Given the description of an element on the screen output the (x, y) to click on. 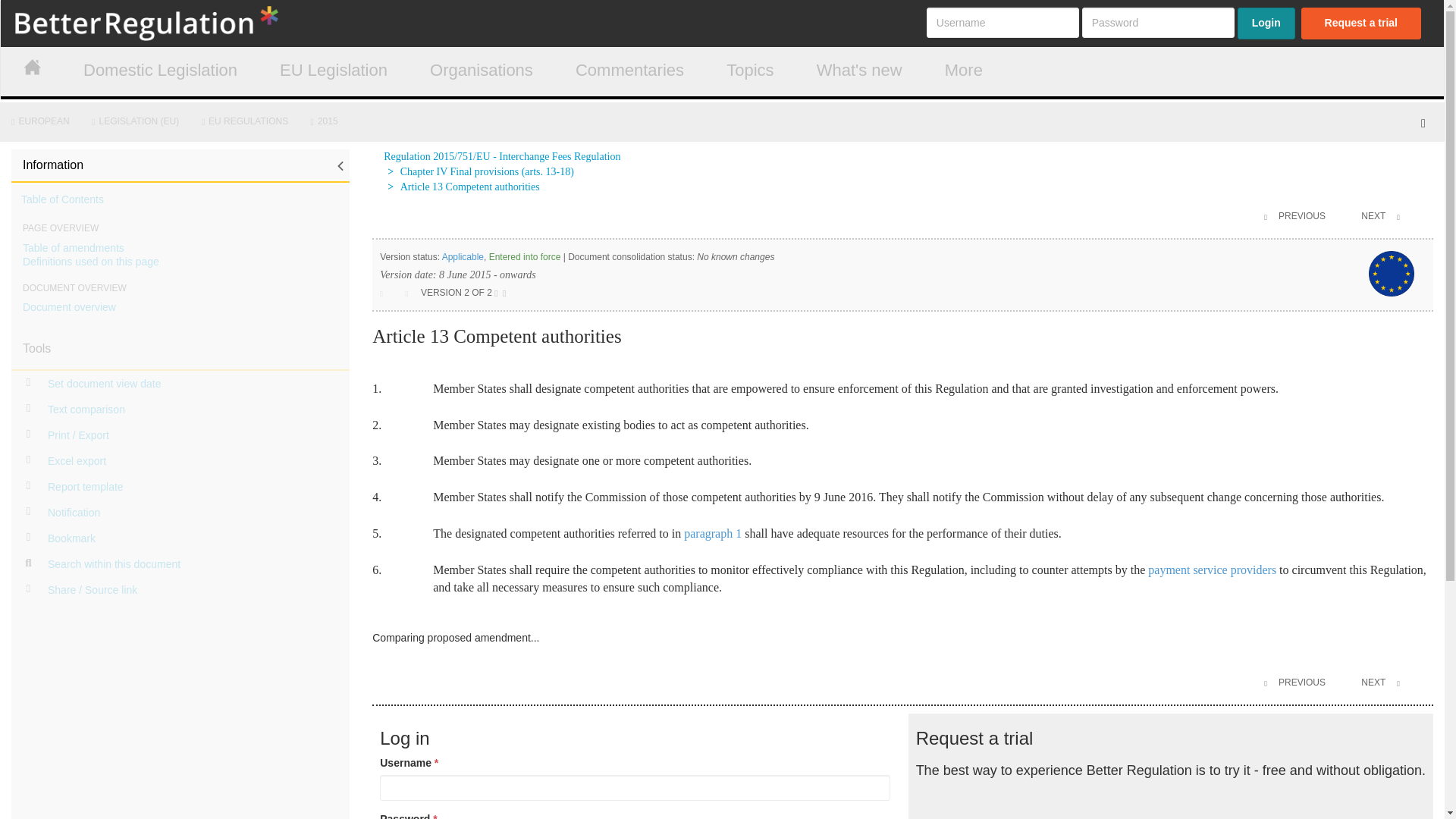
Domestic Legislation (160, 71)
Organisations (480, 71)
Information (180, 165)
Login (1266, 23)
Topics (749, 71)
2015 (327, 121)
More (963, 71)
EUROPEAN (42, 121)
EU Legislation (333, 71)
Commentaries (629, 71)
Home (179, 22)
Definitions used on this page (90, 261)
What's new (859, 71)
EU REGULATIONS (248, 121)
